Given the description of an element on the screen output the (x, y) to click on. 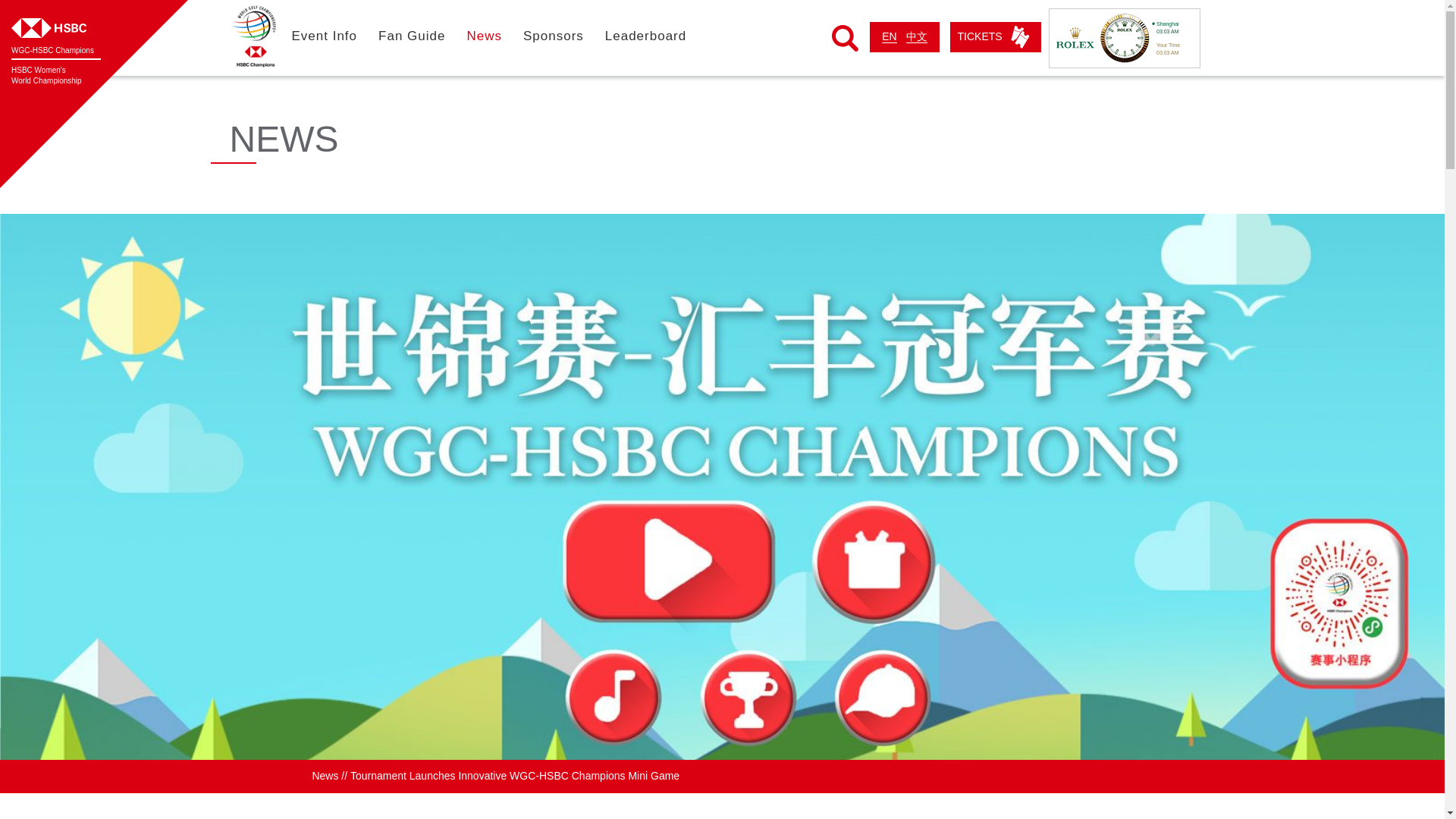
Fan Guide (46, 75)
Event Info (411, 36)
WGC-HSBC Champions (323, 36)
News (52, 50)
News (324, 775)
TICKETS (483, 36)
EN (995, 37)
Leaderboard (889, 37)
Sponsors (645, 36)
